Given the description of an element on the screen output the (x, y) to click on. 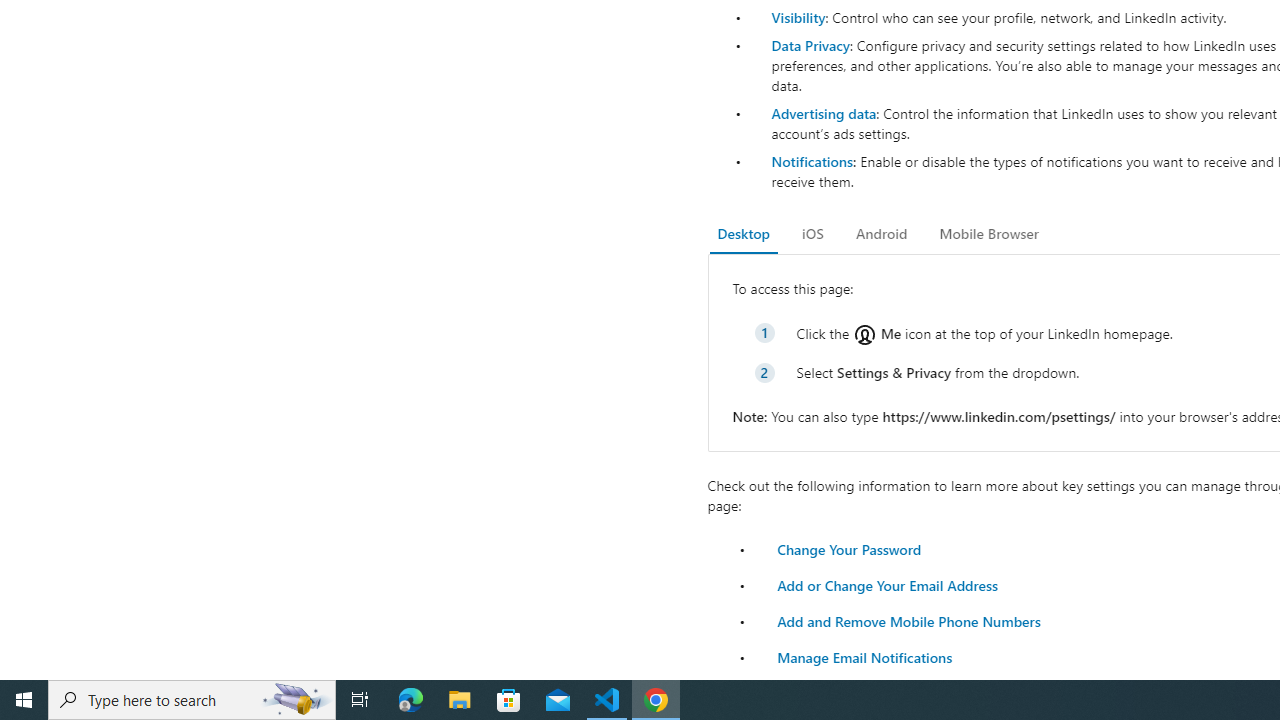
iOS (812, 234)
Desktop (744, 234)
Mobile Browser (988, 234)
Data Privacy (809, 44)
Android (881, 234)
Advertising data (823, 112)
Add or Change Your Email Address (887, 584)
Change Your Password (848, 548)
Manage Email Notifications (864, 656)
Add and Remove Mobile Phone Numbers (908, 620)
Notifications (811, 161)
Visibility (797, 17)
